Given the description of an element on the screen output the (x, y) to click on. 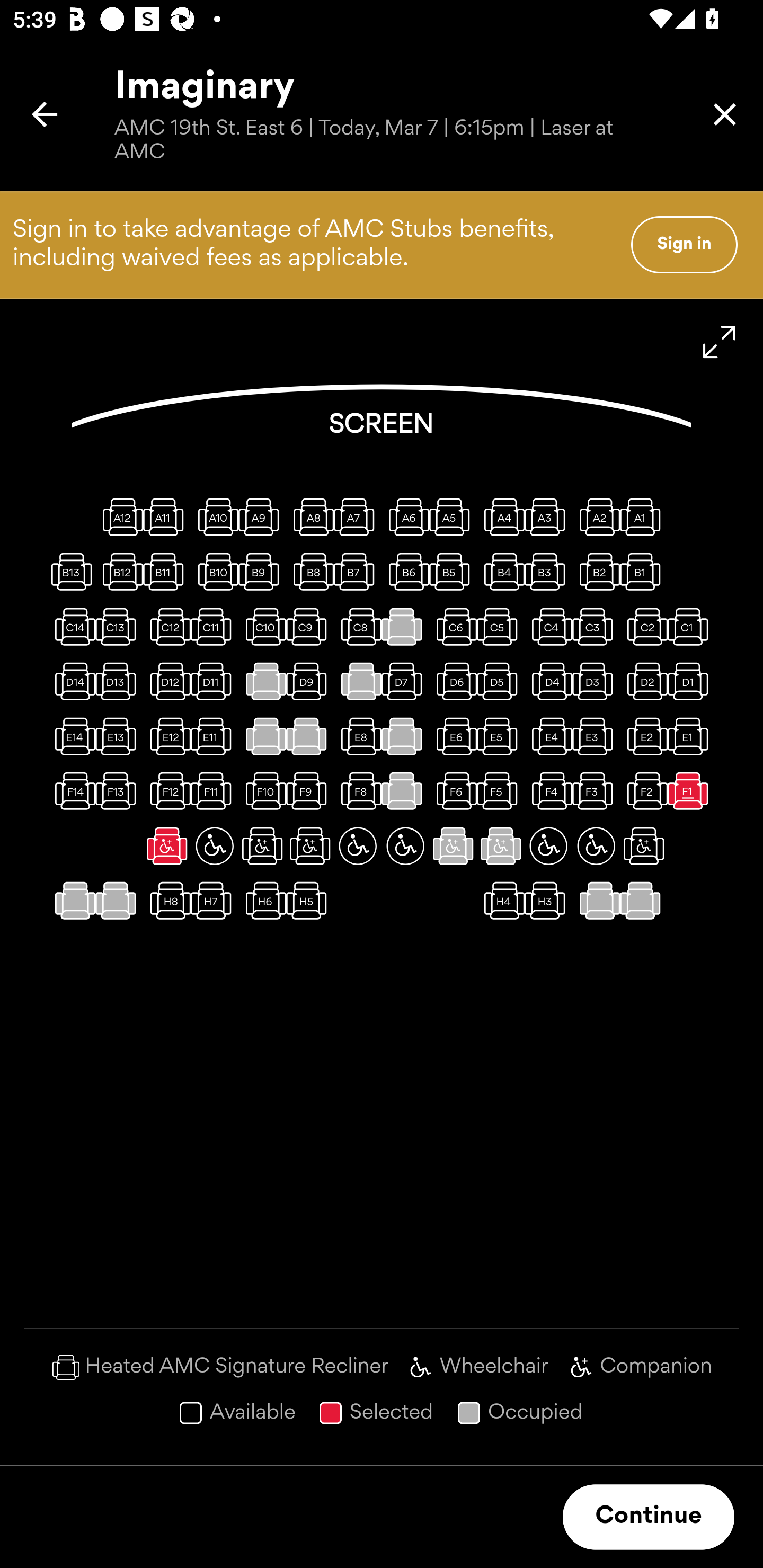
Back (44, 114)
Close (724, 114)
Sign in (684, 244)
Zoom (719, 342)
A12, Regular seat, available (119, 516)
A11, Regular seat, available (166, 516)
A10, Regular seat, available (214, 516)
A9, Regular seat, available (262, 516)
A8, Regular seat, available (310, 516)
A7, Regular seat, available (357, 516)
A6, Regular seat, available (404, 516)
A5, Regular seat, available (452, 516)
A4, Regular seat, available (500, 516)
A3, Regular seat, available (548, 516)
A2, Regular seat, available (595, 516)
A1, Regular seat, available (643, 516)
B13, Regular seat, available (71, 571)
B12, Regular seat, available (119, 571)
B11, Regular seat, available (166, 571)
B10, Regular seat, available (214, 571)
B9, Regular seat, available (262, 571)
B8, Regular seat, available (310, 571)
B7, Regular seat, available (357, 571)
B6, Regular seat, available (404, 571)
B5, Regular seat, available (452, 571)
B4, Regular seat, available (500, 571)
B3, Regular seat, available (548, 571)
B2, Regular seat, available (595, 571)
B1, Regular seat, available (643, 571)
C14, Regular seat, available (71, 625)
C13, Regular seat, available (119, 625)
C12, Regular seat, available (166, 625)
C11, Regular seat, available (214, 625)
C10, Regular seat, available (262, 625)
C9, Regular seat, available (310, 625)
C8, Regular seat, available (357, 625)
C6, Regular seat, available (452, 625)
C5, Regular seat, available (500, 625)
C4, Regular seat, available (548, 625)
C3, Regular seat, available (595, 625)
C2, Regular seat, available (643, 625)
C1, Regular seat, available (691, 625)
D14, Regular seat, available (71, 680)
D13, Regular seat, available (119, 680)
D12, Regular seat, available (166, 680)
D11, Regular seat, available (214, 680)
D9, Regular seat, available (310, 680)
D7, Regular seat, available (404, 680)
D6, Regular seat, available (452, 680)
D5, Regular seat, available (500, 680)
D4, Regular seat, available (548, 680)
D3, Regular seat, available (595, 680)
D2, Regular seat, available (643, 680)
D1, Regular seat, available (691, 680)
E14, Regular seat, available (71, 735)
E13, Regular seat, available (119, 735)
E12, Regular seat, available (166, 735)
E11, Regular seat, available (214, 735)
E8, Regular seat, available (357, 735)
E6, Regular seat, available (452, 735)
E5, Regular seat, available (500, 735)
E4, Regular seat, available (548, 735)
E3, Regular seat, available (595, 735)
E2, Regular seat, available (643, 735)
E1, Regular seat, available (691, 735)
F14, Regular seat, available (71, 790)
F13, Regular seat, available (119, 790)
F12, Regular seat, available (166, 790)
F11, Regular seat, available (214, 790)
F10, Regular seat, available (262, 790)
F9, Regular seat, available (310, 790)
F8, Regular seat, available (357, 790)
F6, Regular seat, available (452, 790)
F5, Regular seat, available (500, 790)
F4, Regular seat, available (548, 790)
F3, Regular seat, available (595, 790)
F2, Regular seat, available (643, 790)
F1, Regular seat, selected (691, 790)
G11, Wheelchair companion seat, selected (166, 845)
G10, Wheelchair space, available (214, 845)
G9, Wheelchair companion seat, available (262, 845)
G8, Wheelchair companion seat, available (310, 845)
G7, Wheelchair space, available (357, 845)
G6, Wheelchair space, available (404, 845)
G3, Wheelchair space, available (548, 845)
G2, Wheelchair space, available (595, 845)
G1, Wheelchair companion seat, available (643, 845)
H8, Regular seat, available (166, 900)
H7, Regular seat, available (214, 900)
H6, Regular seat, available (262, 900)
H5, Regular seat, available (310, 900)
H4, Regular seat, available (500, 900)
H3, Regular seat, available (548, 900)
Continue (648, 1516)
